Given the description of an element on the screen output the (x, y) to click on. 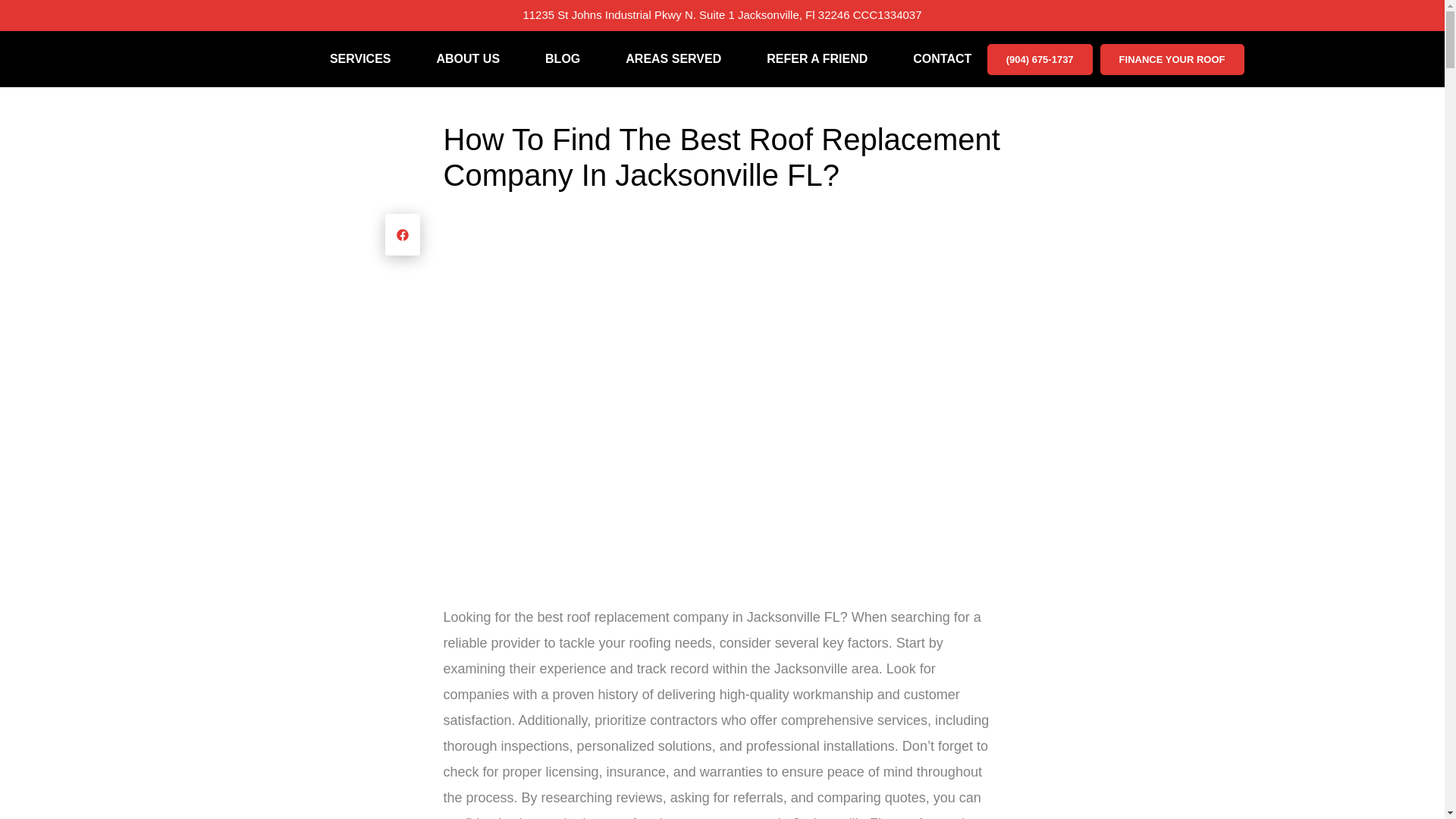
AREAS SERVED (673, 58)
ABOUT US (468, 58)
SERVICES (360, 58)
